Given the description of an element on the screen output the (x, y) to click on. 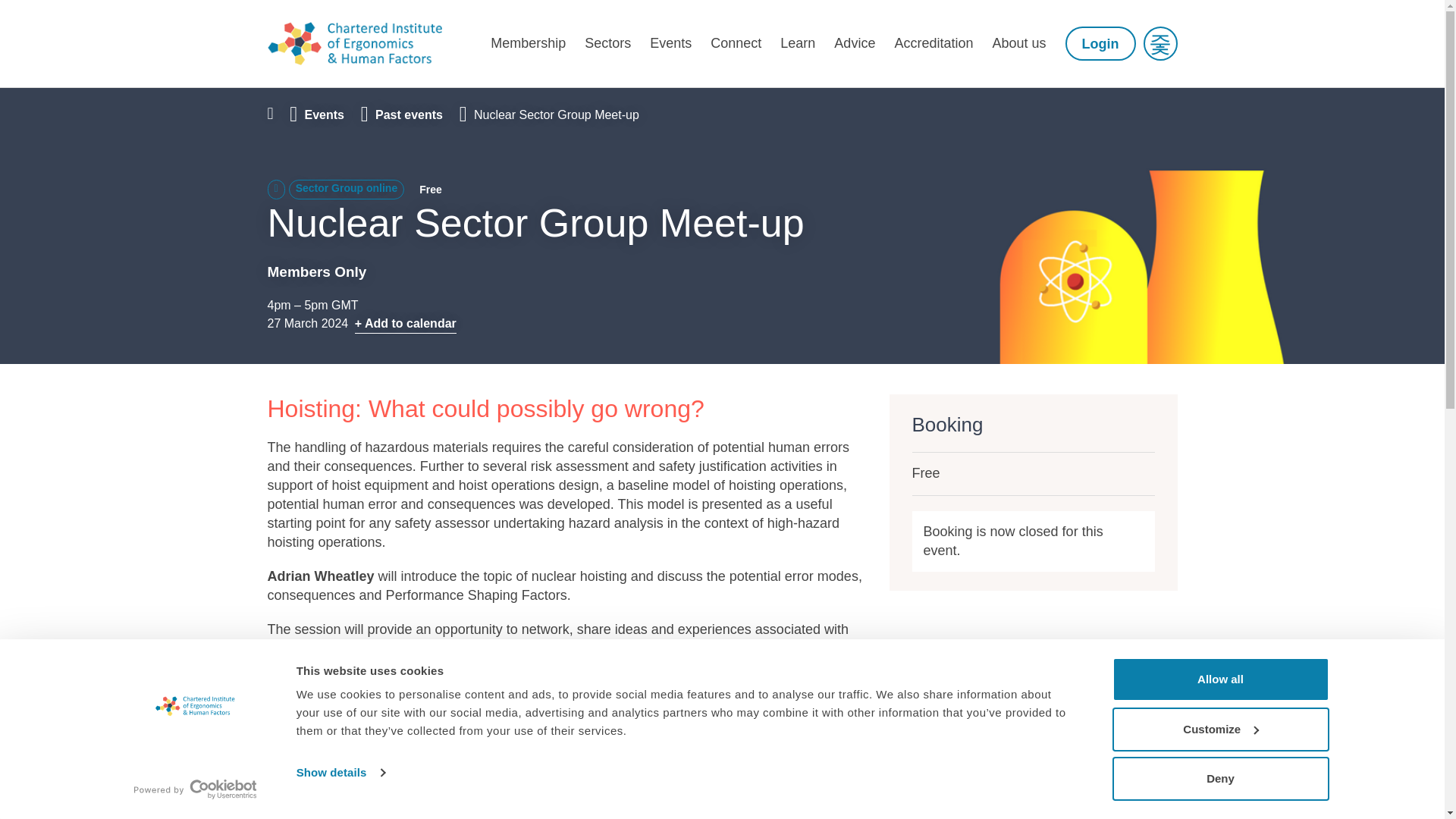
Show details (340, 772)
Customize (1219, 728)
Skip to content (308, 104)
Deny (1219, 778)
Allow all (1219, 679)
